Given the description of an element on the screen output the (x, y) to click on. 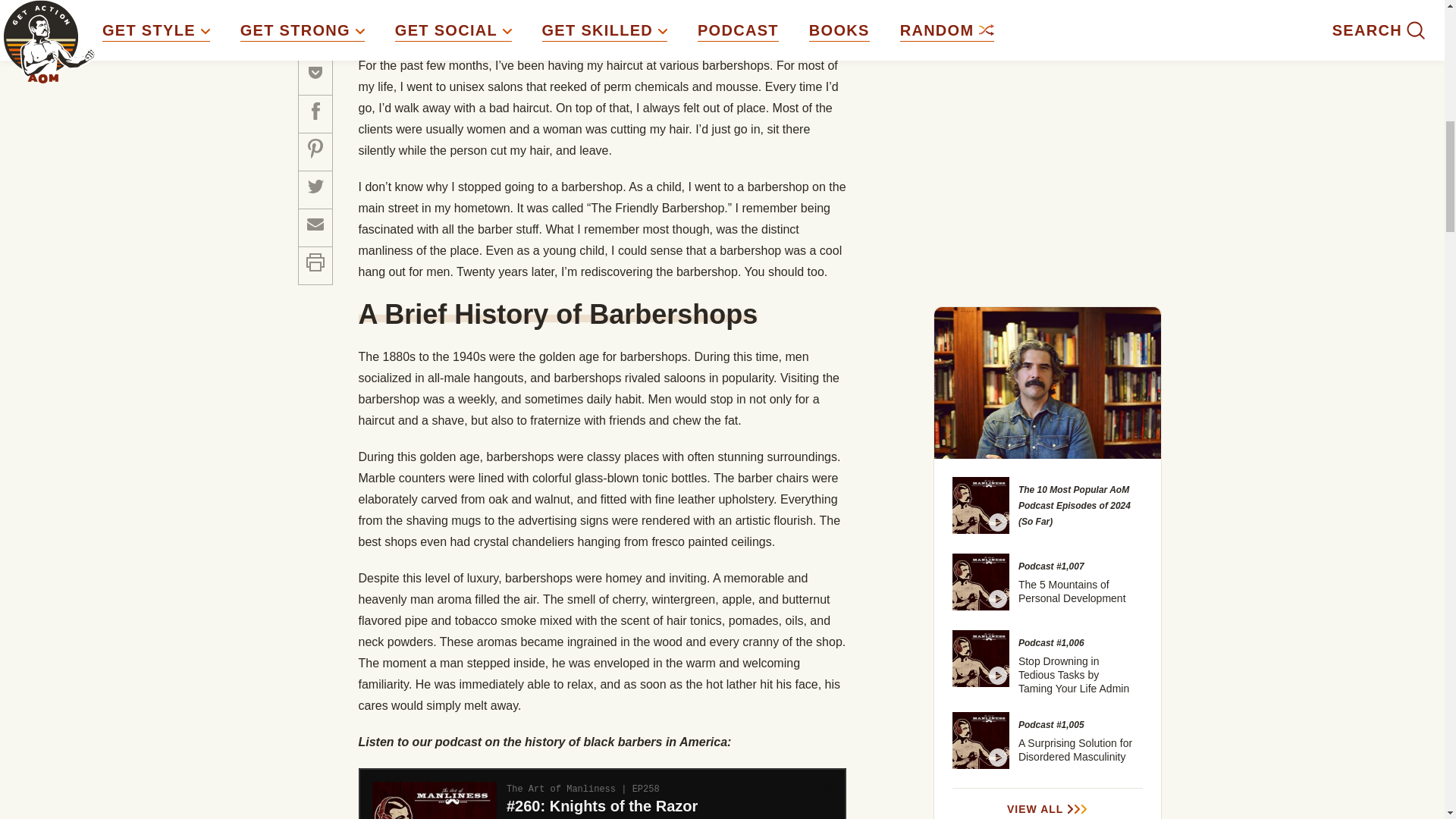
3rd party ad content (1047, 6)
barber4 (579, 12)
